Given the description of an element on the screen output the (x, y) to click on. 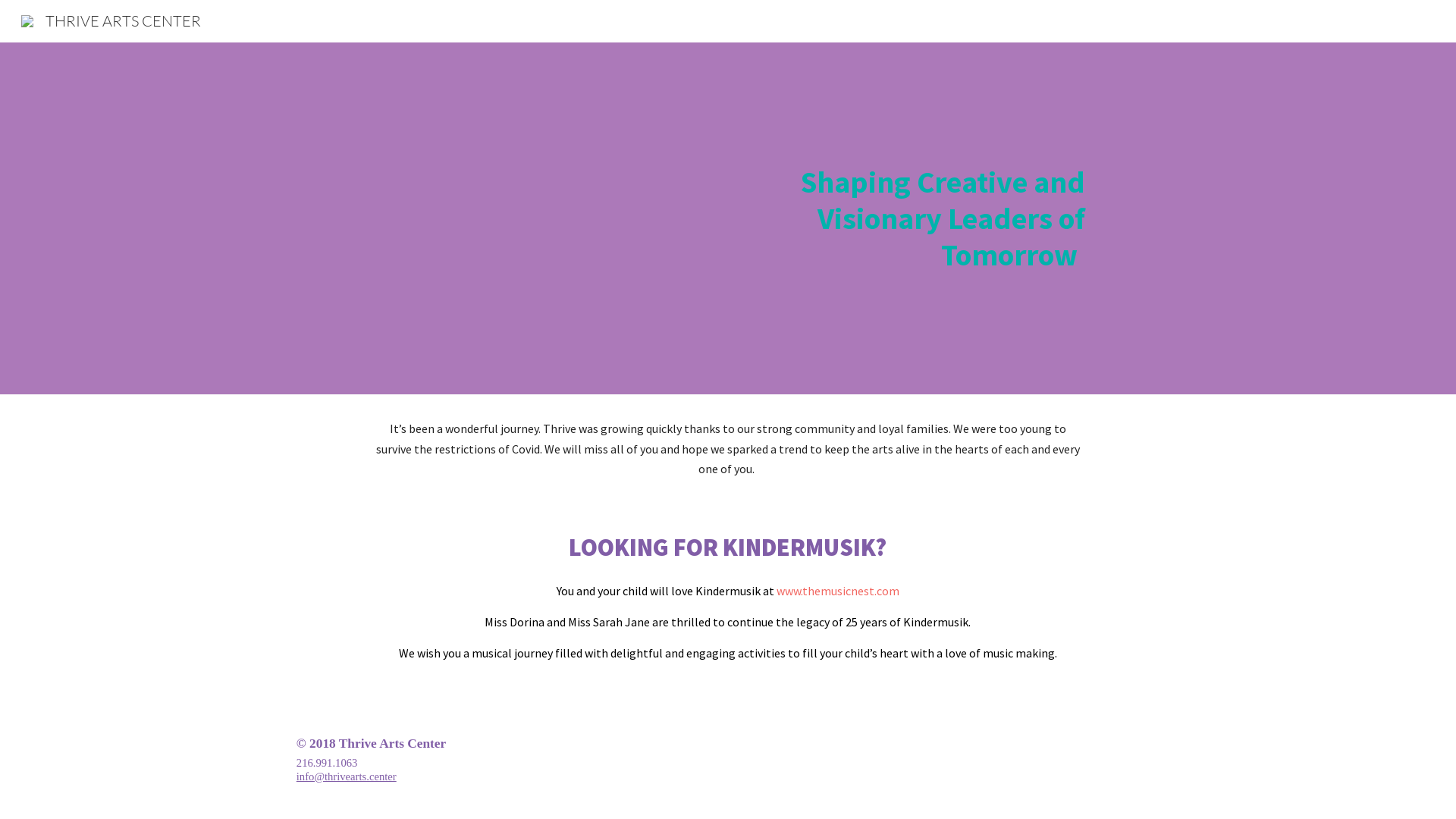
www.themusicnest.com Element type: text (837, 590)
THRIVE ARTS CENTER Element type: text (111, 18)
info@thrivearts.center Element type: text (346, 776)
  Element type: text (775, 590)
